Given the description of an element on the screen output the (x, y) to click on. 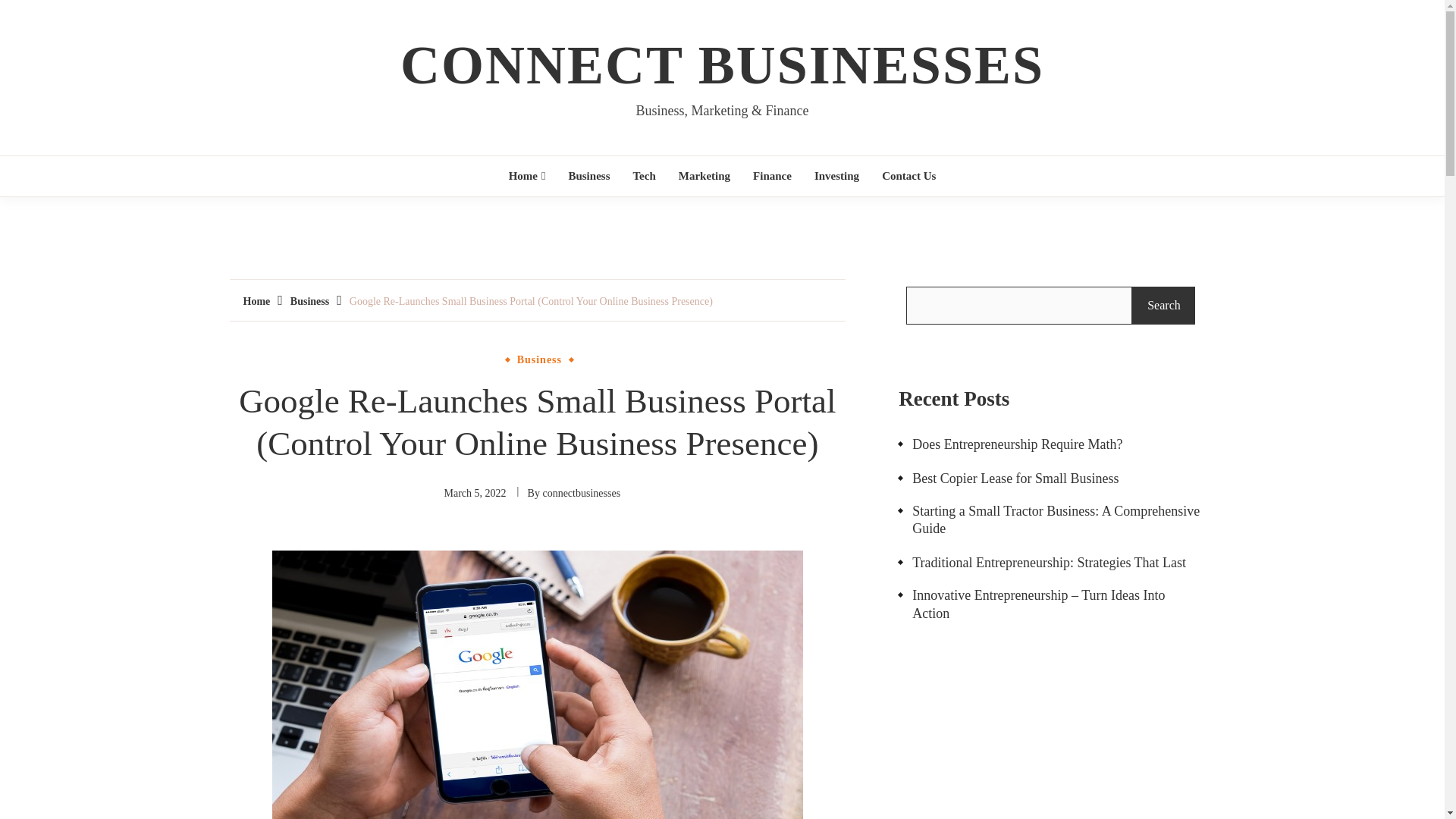
Investing (836, 176)
CONNECT BUSINESSES (721, 65)
Business (539, 359)
Finance (771, 176)
March 5, 2022 (475, 492)
Does Entrepreneurship Require Math? (1010, 444)
Business (588, 176)
Home (527, 176)
Marketing (704, 176)
Starting a Small Tractor Business: A Comprehensive Guide (1050, 520)
connectbusinesses (580, 492)
Home (256, 301)
Search (1163, 305)
Contact Us (908, 176)
Business (309, 301)
